Given the description of an element on the screen output the (x, y) to click on. 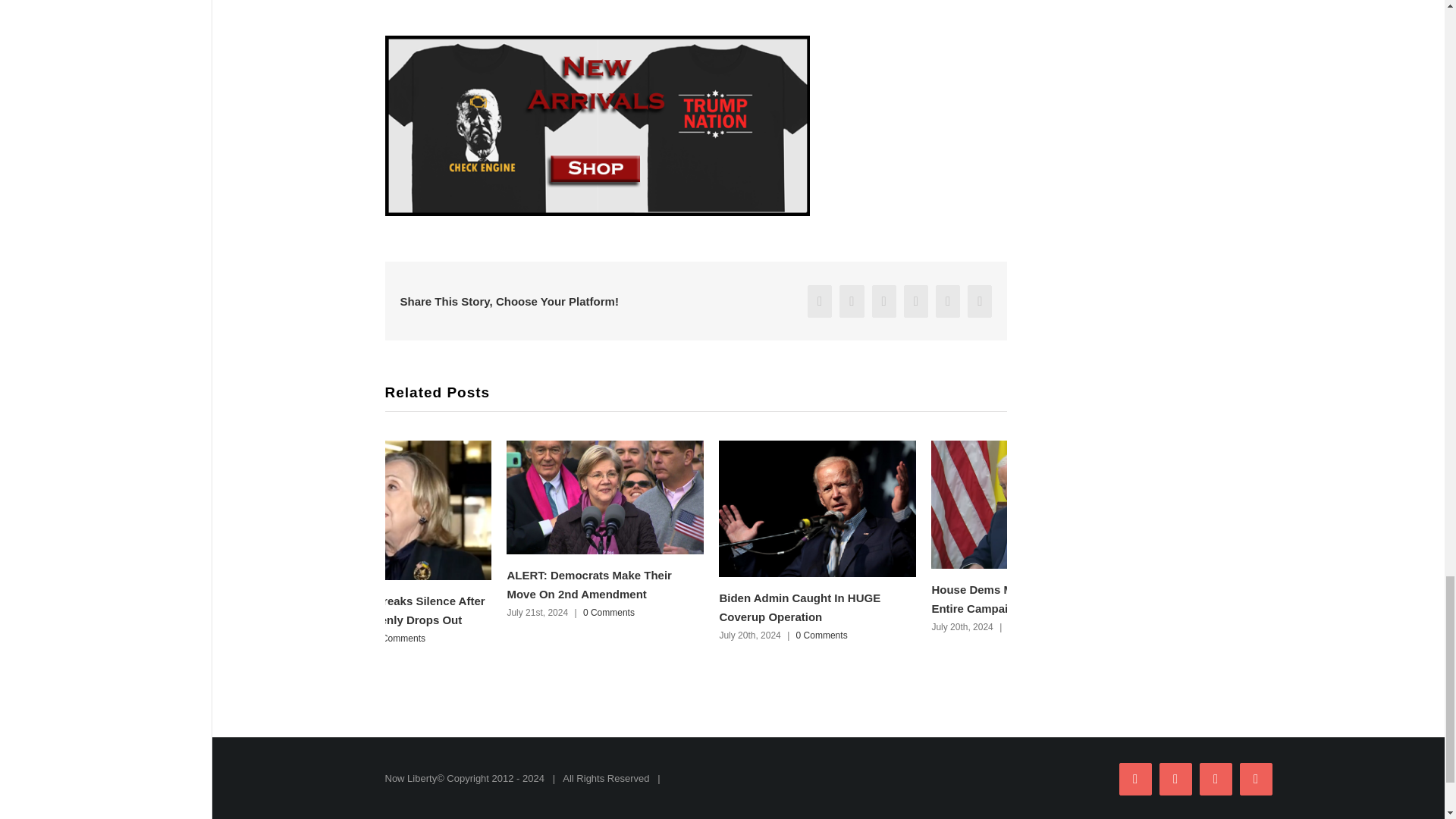
ALERT: Democrats Make Their Move On 2nd Amendment (588, 584)
0 Comments (608, 612)
Biden Admin Caught In HUGE Coverup Operation (799, 607)
ALERT: Democrats Make Their Move On 2nd Amendment (588, 584)
Biden Admin Caught In HUGE Coverup Operation (799, 607)
0 Comments (821, 634)
0 Comments (399, 638)
